Given the description of an element on the screen output the (x, y) to click on. 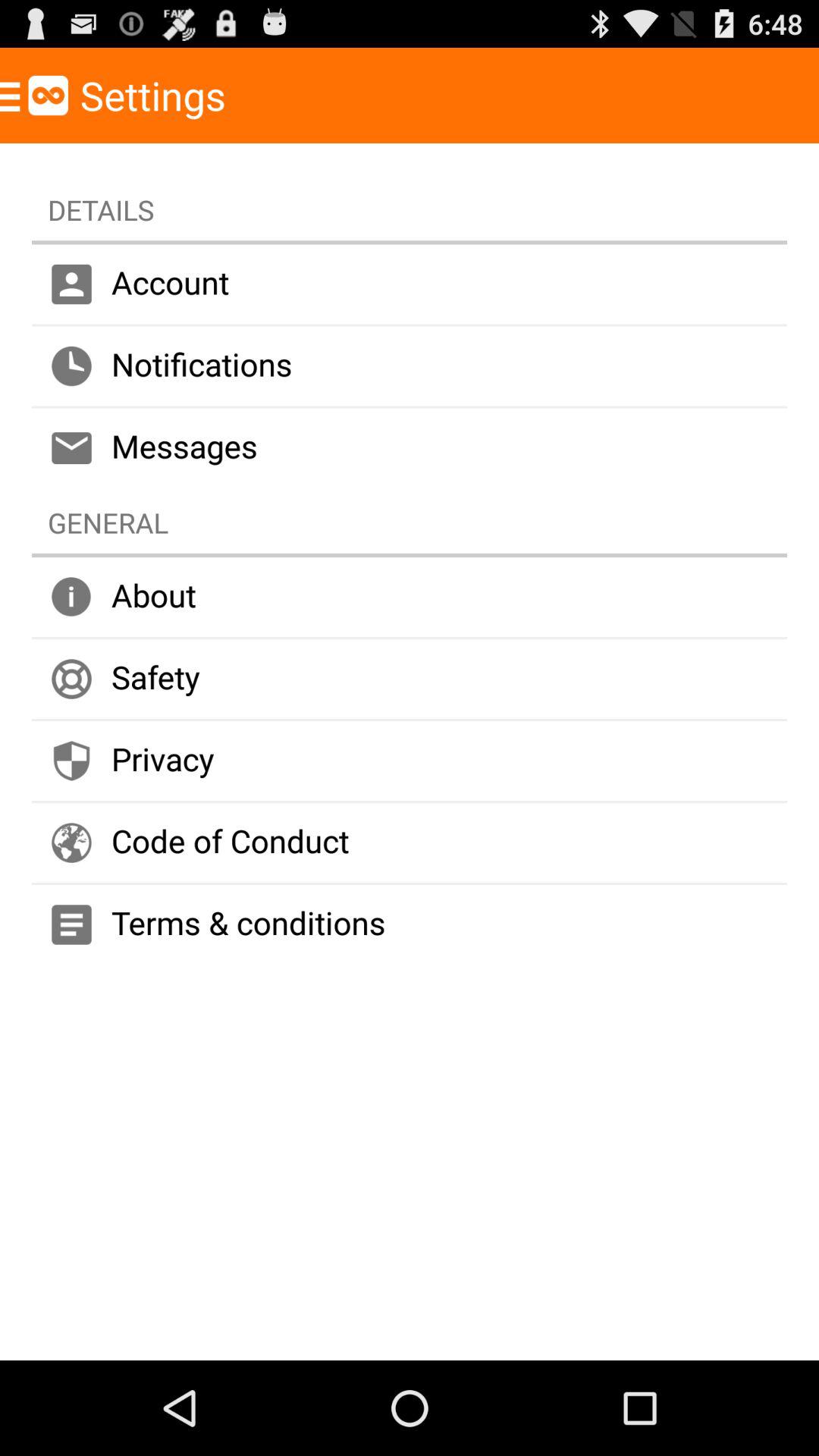
flip to code of conduct (409, 842)
